Given the description of an element on the screen output the (x, y) to click on. 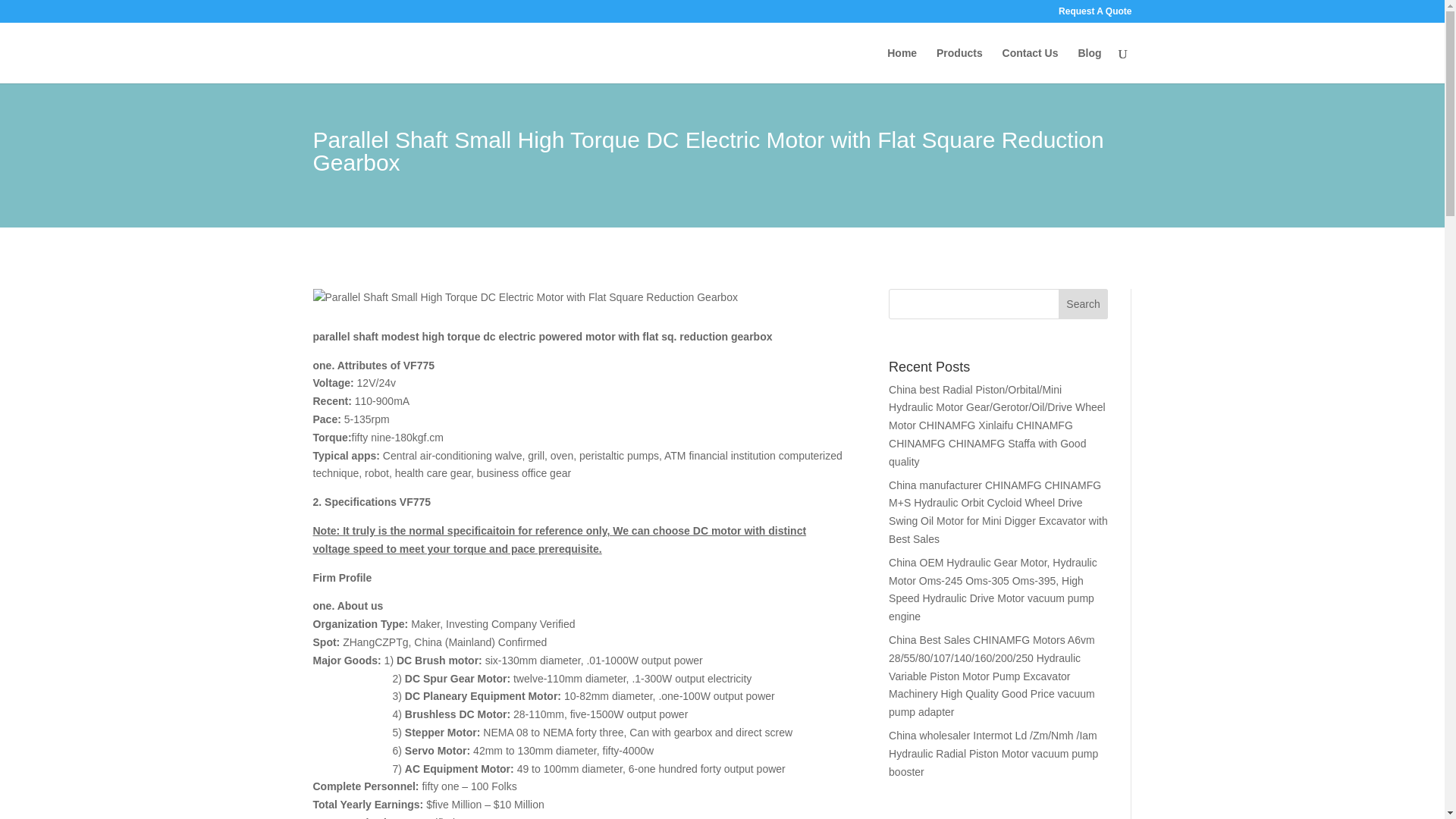
Products (959, 65)
Search (1083, 304)
Contact Us (1030, 65)
Search (1083, 304)
Request A Quote (1094, 14)
